Given the description of an element on the screen output the (x, y) to click on. 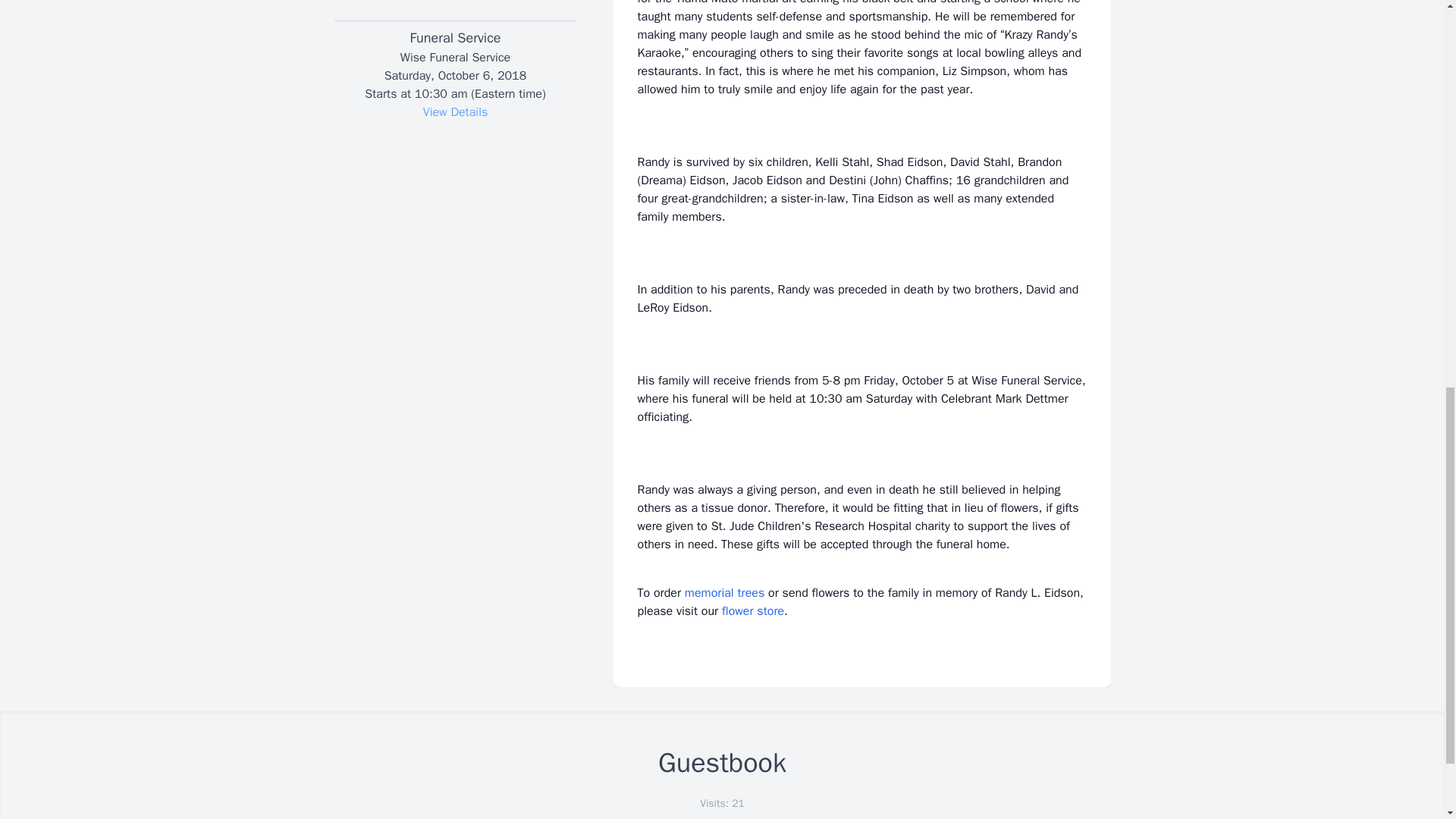
memorial trees (724, 592)
View Details (455, 111)
flower store (753, 611)
